Given the description of an element on the screen output the (x, y) to click on. 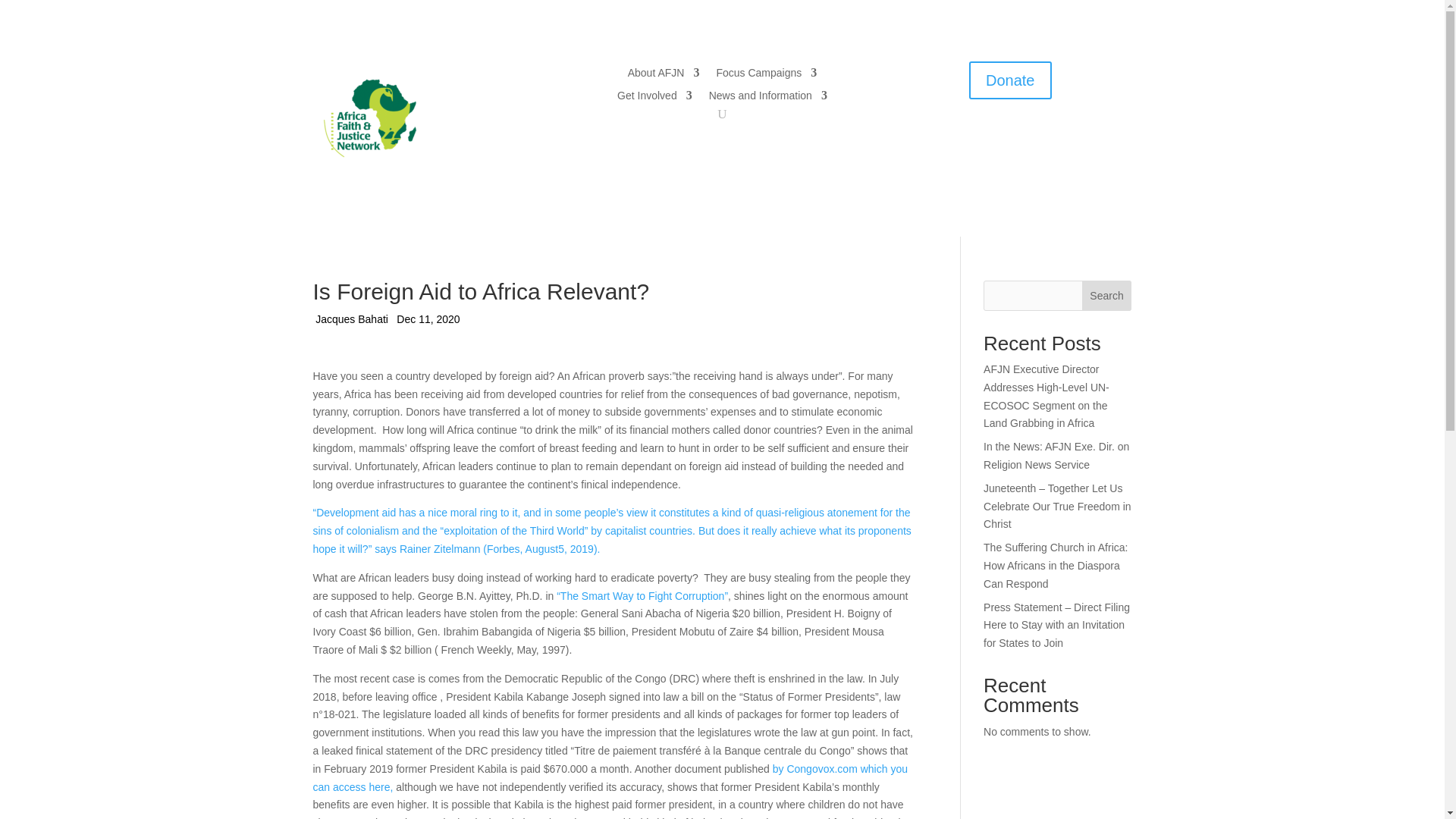
About AFJN (663, 75)
Focus Campaigns (766, 75)
AFJN Circle Logo 2 (369, 118)
Search (1106, 295)
News and Information (768, 98)
by Congovox.com which you can access here, (610, 777)
Donate (1010, 80)
Posts by Jacques Bahati (351, 320)
Follow on Facebook (964, 134)
Follow on LinkedIn (1055, 134)
